Given the description of an element on the screen output the (x, y) to click on. 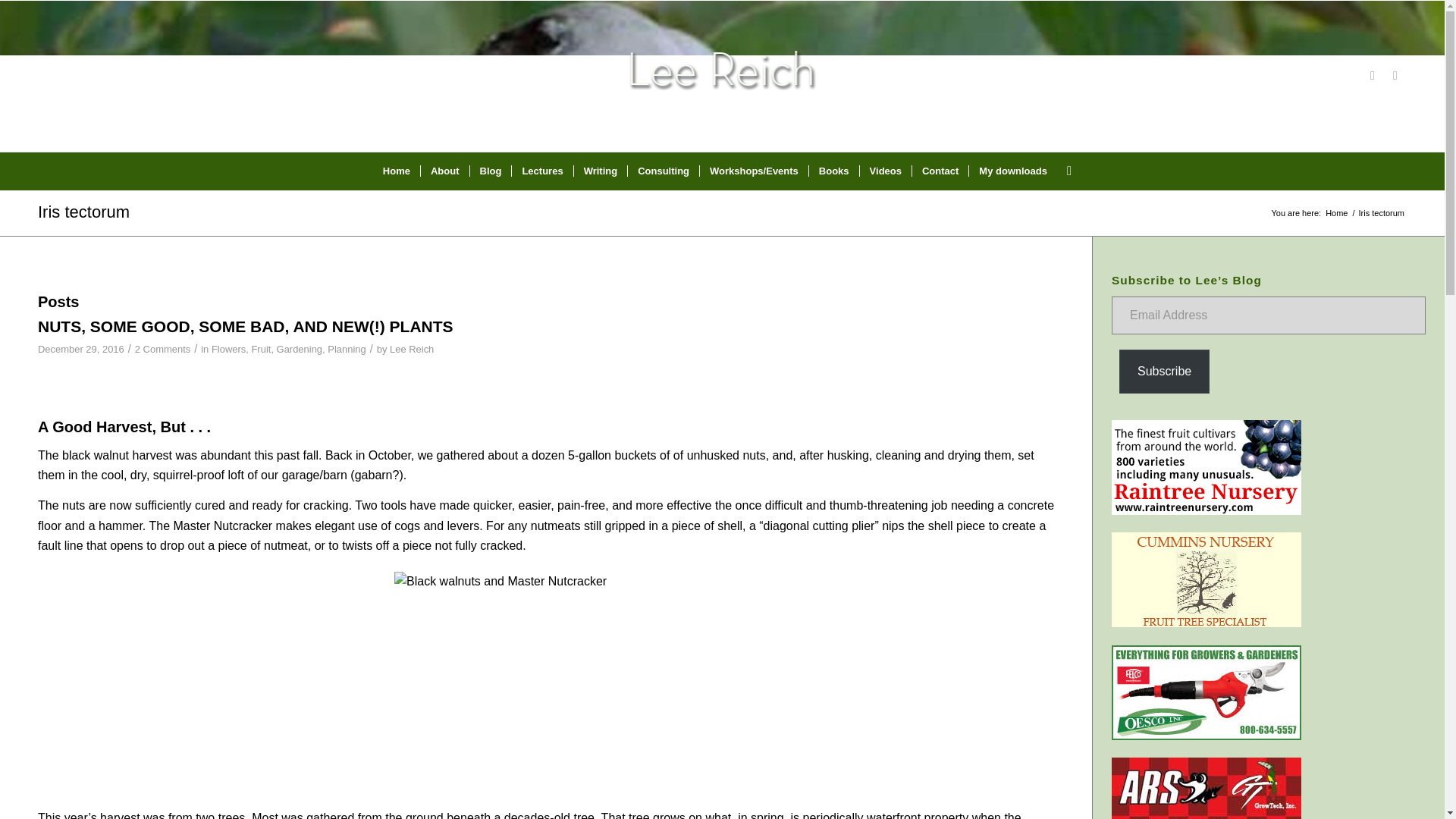
Permanent Link:  Iris tectorum (83, 211)
Flowers (228, 348)
2 Comments (162, 348)
About (444, 171)
My downloads (1012, 171)
Home (396, 171)
Lectures (541, 171)
Iris tectorum (83, 211)
Consulting (662, 171)
Books (833, 171)
